Given the description of an element on the screen output the (x, y) to click on. 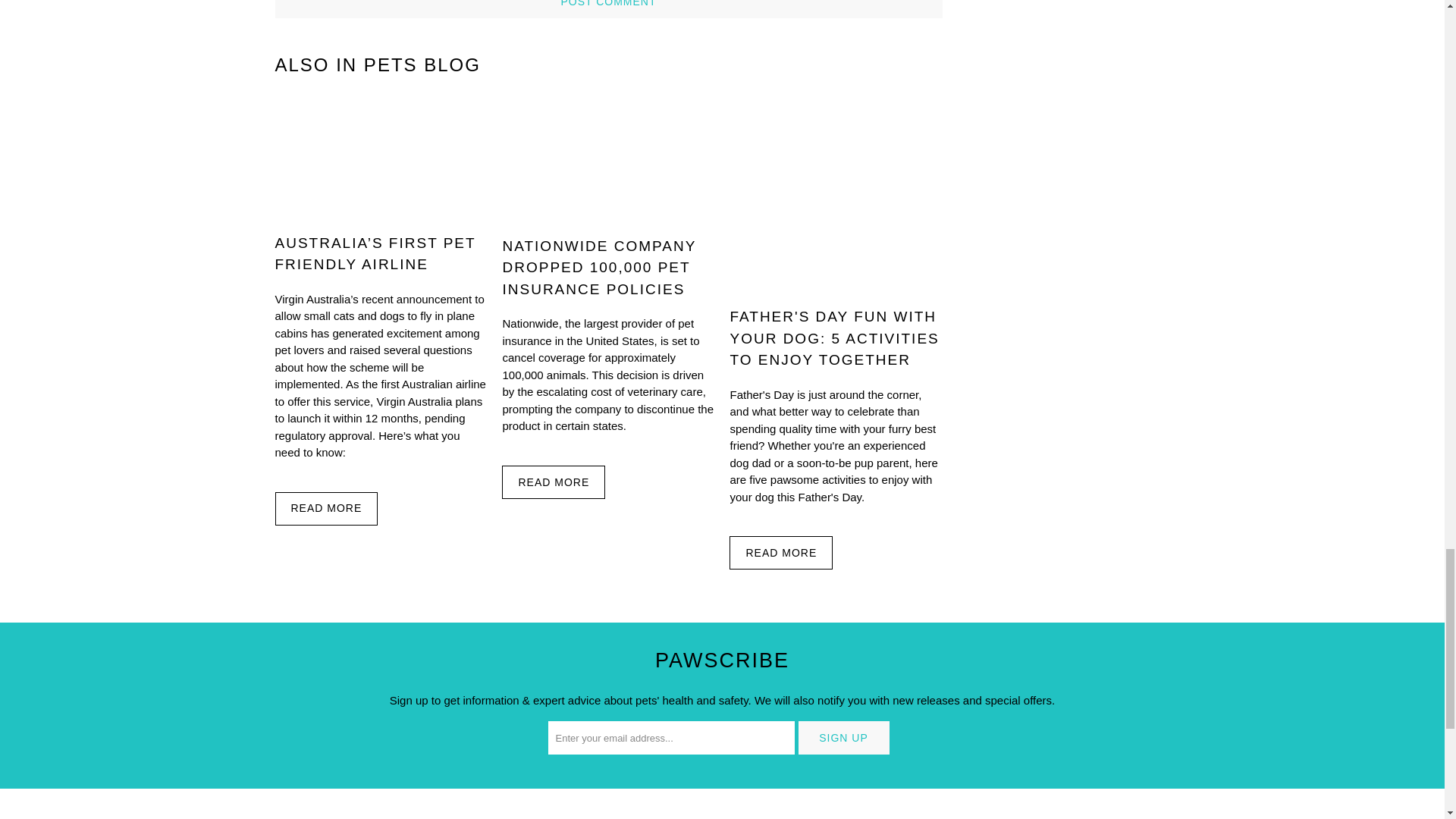
Post comment (608, 9)
Nationwide Company Dropped 100,000 Pet Insurance Policies (608, 160)
Nationwide Company Dropped 100,000 Pet Insurance Policies (598, 267)
Sign Up (842, 737)
